Given the description of an element on the screen output the (x, y) to click on. 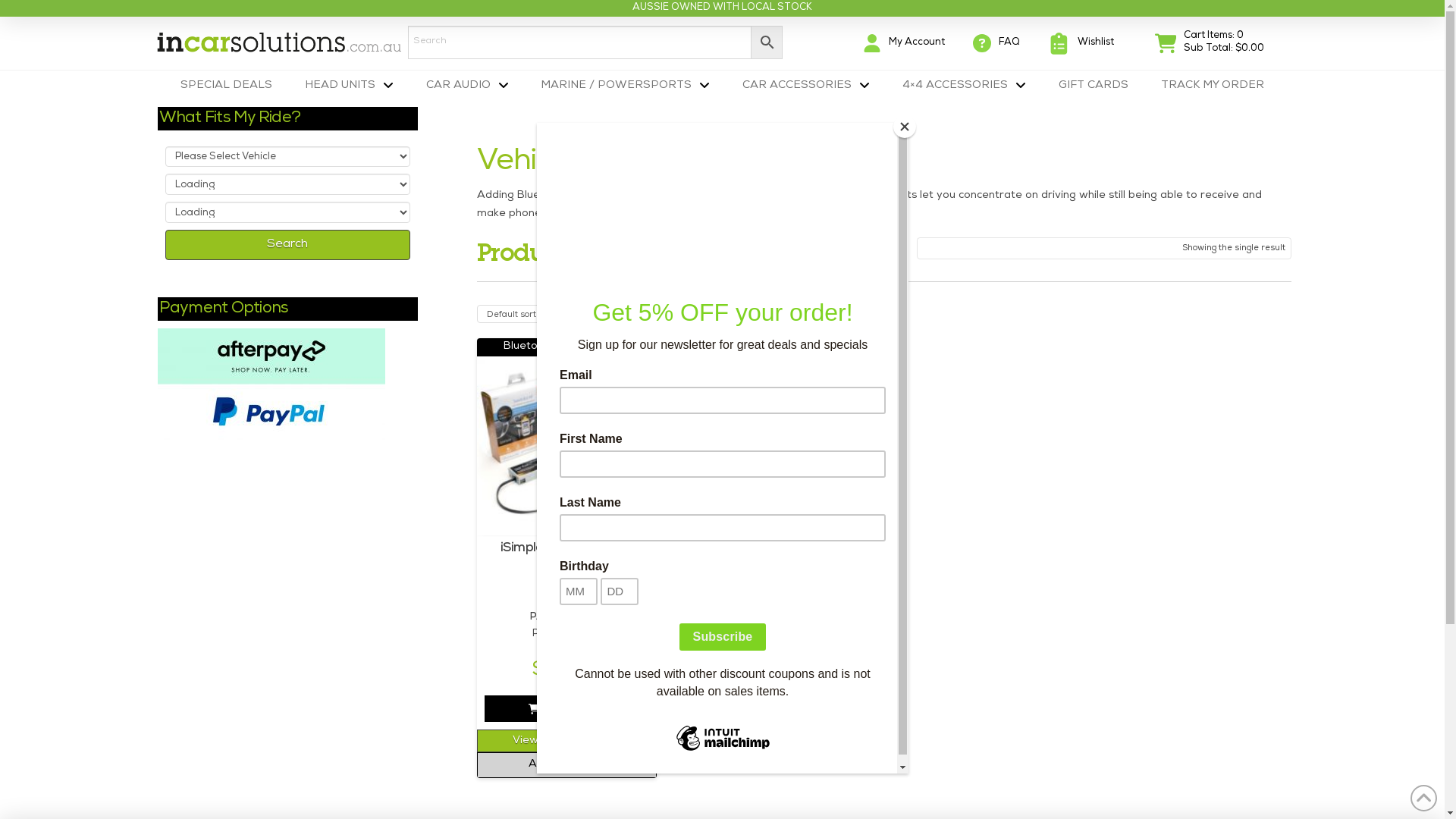
Back to Top Element type: hover (1423, 797)
iSimple Tranzit BLU HF Element type: text (566, 565)
Add to cart Element type: text (566, 708)
FAQ Element type: text (995, 42)
My Account Element type: text (903, 42)
HEAD UNITS Element type: text (348, 85)
Search Element type: text (287, 244)
CAR AUDIO Element type: text (467, 85)
Wishlist Element type: text (1081, 43)
View Product Details Element type: text (565, 740)
SPECIAL DEALS Element type: text (226, 85)
iSimple Element type: text (566, 651)
GIFT CARDS Element type: text (1093, 85)
Add to wishlist Element type: text (565, 765)
CAR ACCESSORIES Element type: text (805, 85)
MARINE / POWERSPORTS Element type: text (624, 85)
TRACK MY ORDER Element type: text (1212, 85)
